Given the description of an element on the screen output the (x, y) to click on. 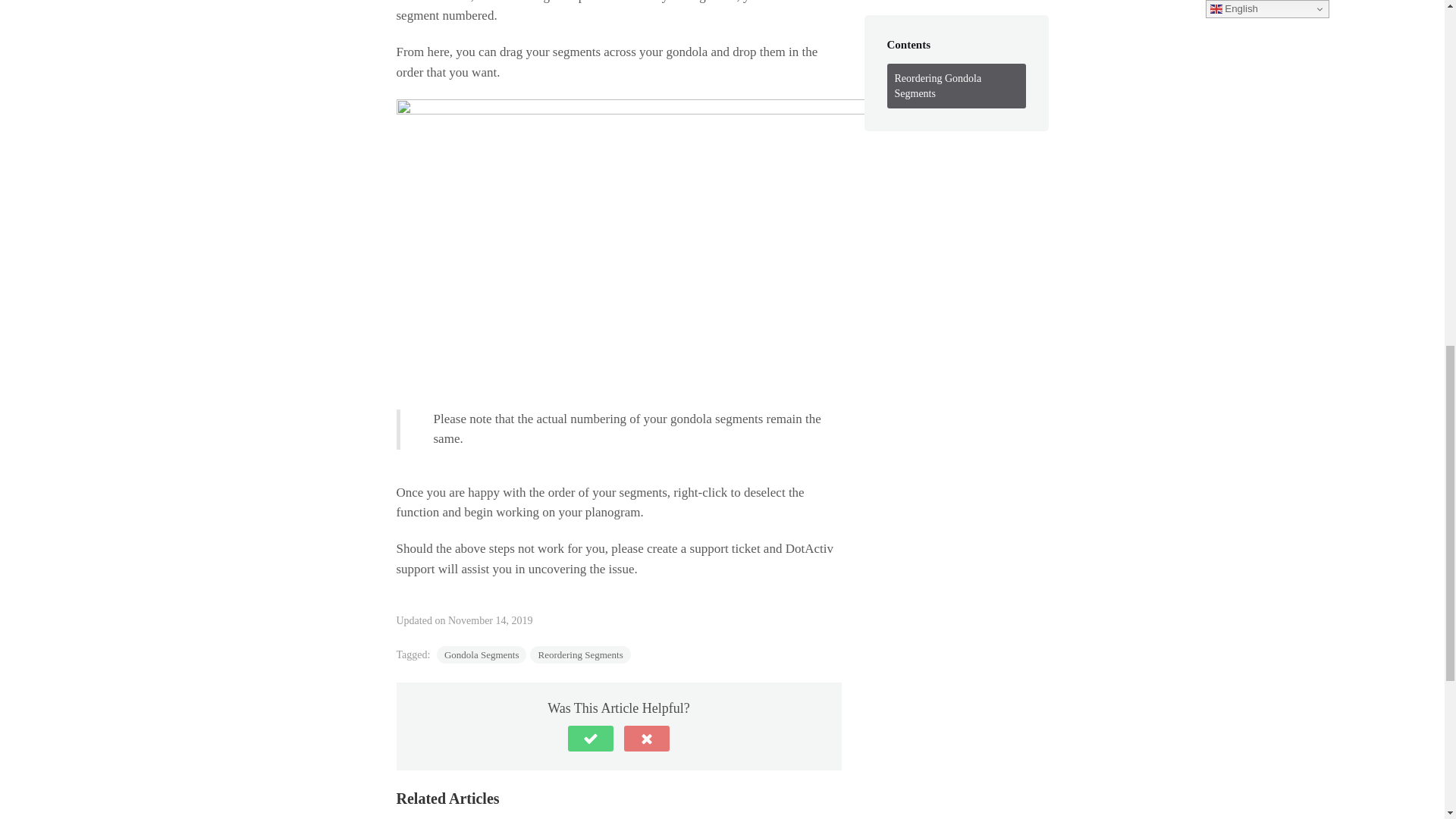
Reordering Segments (579, 654)
Gondola Segments (481, 654)
